Given the description of an element on the screen output the (x, y) to click on. 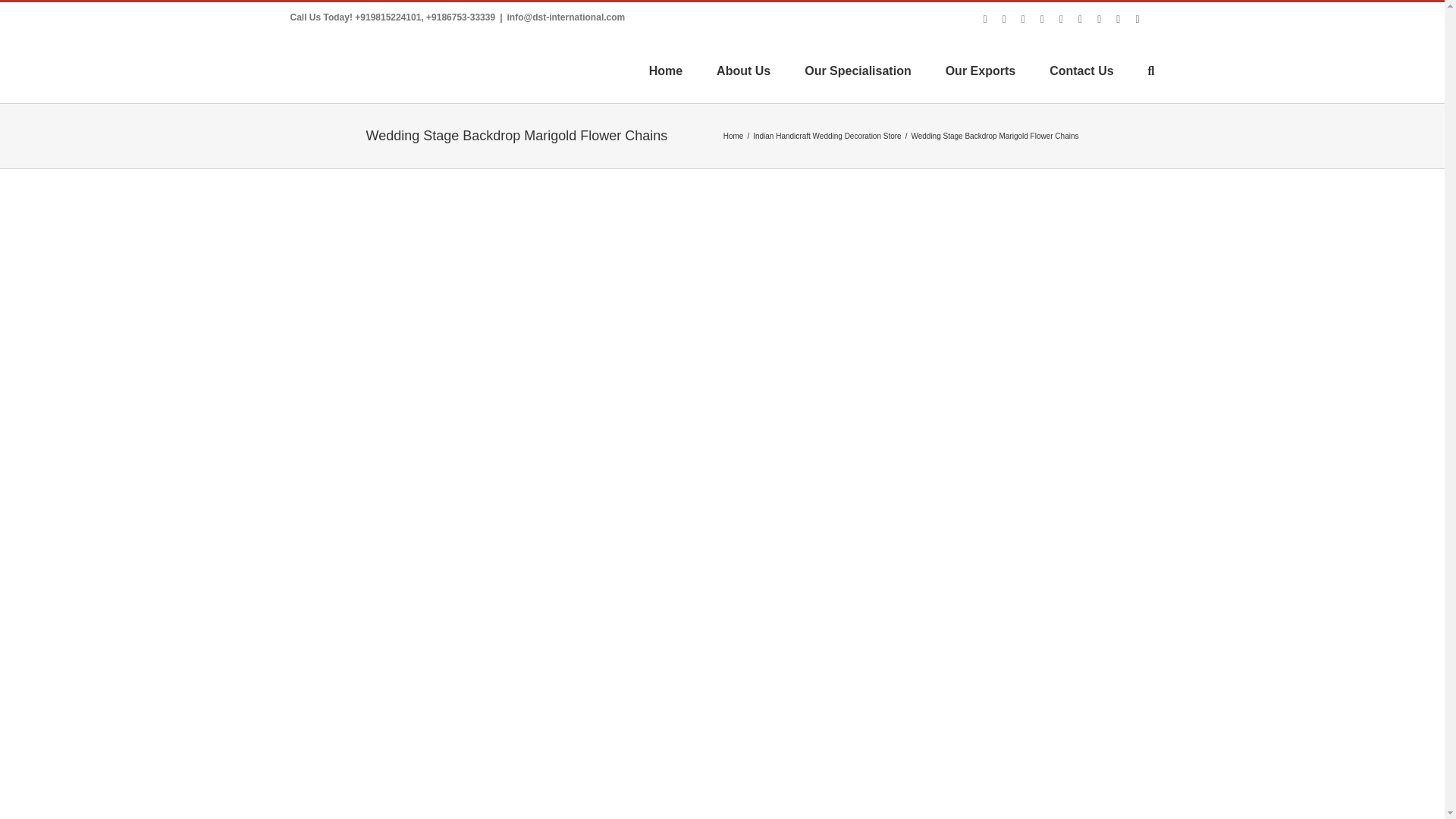
Home (733, 135)
Our Specialisation (858, 69)
Contact Us (1081, 69)
Our Exports (979, 69)
Indian Handicraft Wedding Decoration Store (826, 135)
